Given the description of an element on the screen output the (x, y) to click on. 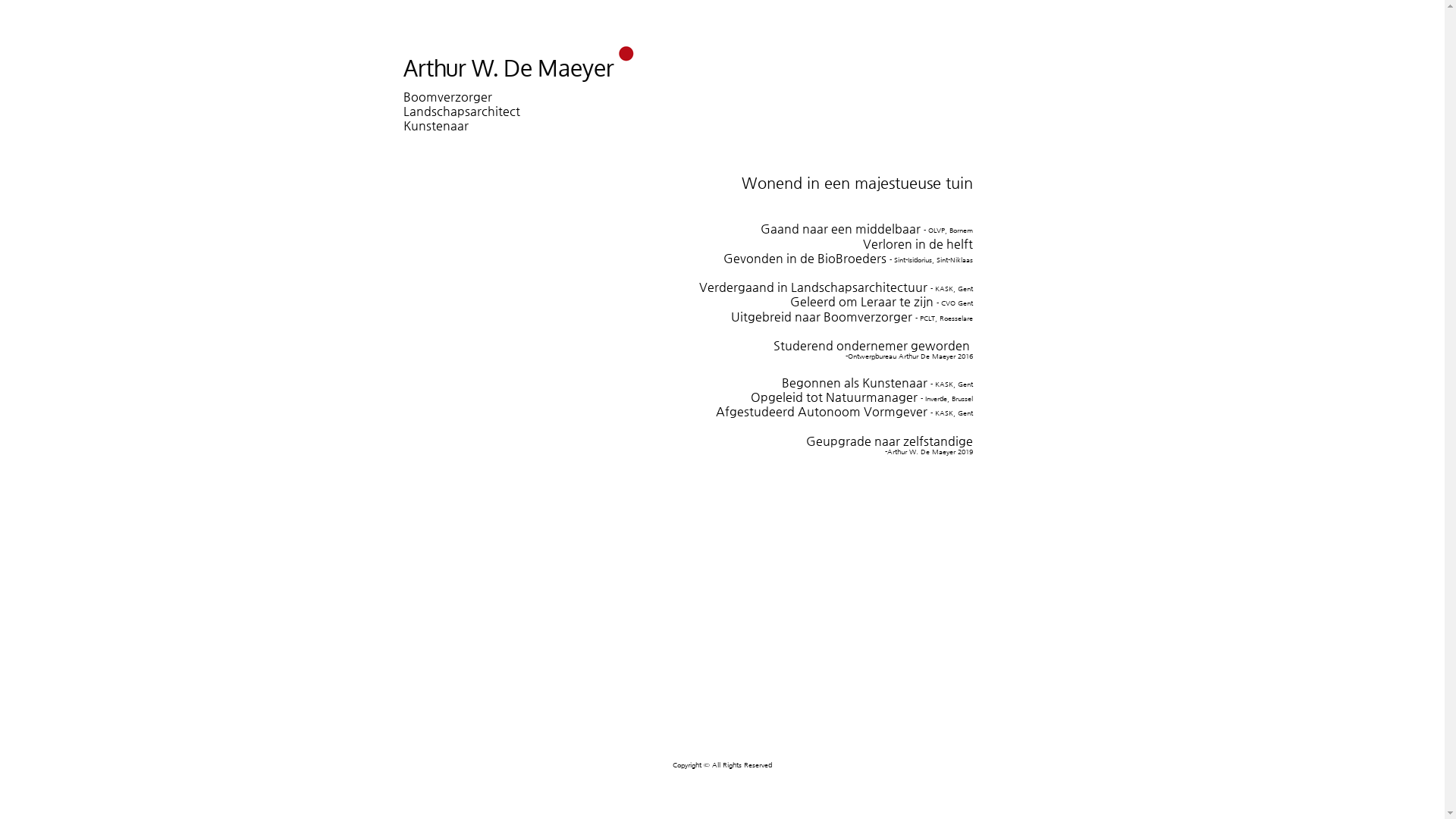
Arthur W. De Maeyer Element type: text (508, 67)
